Given the description of an element on the screen output the (x, y) to click on. 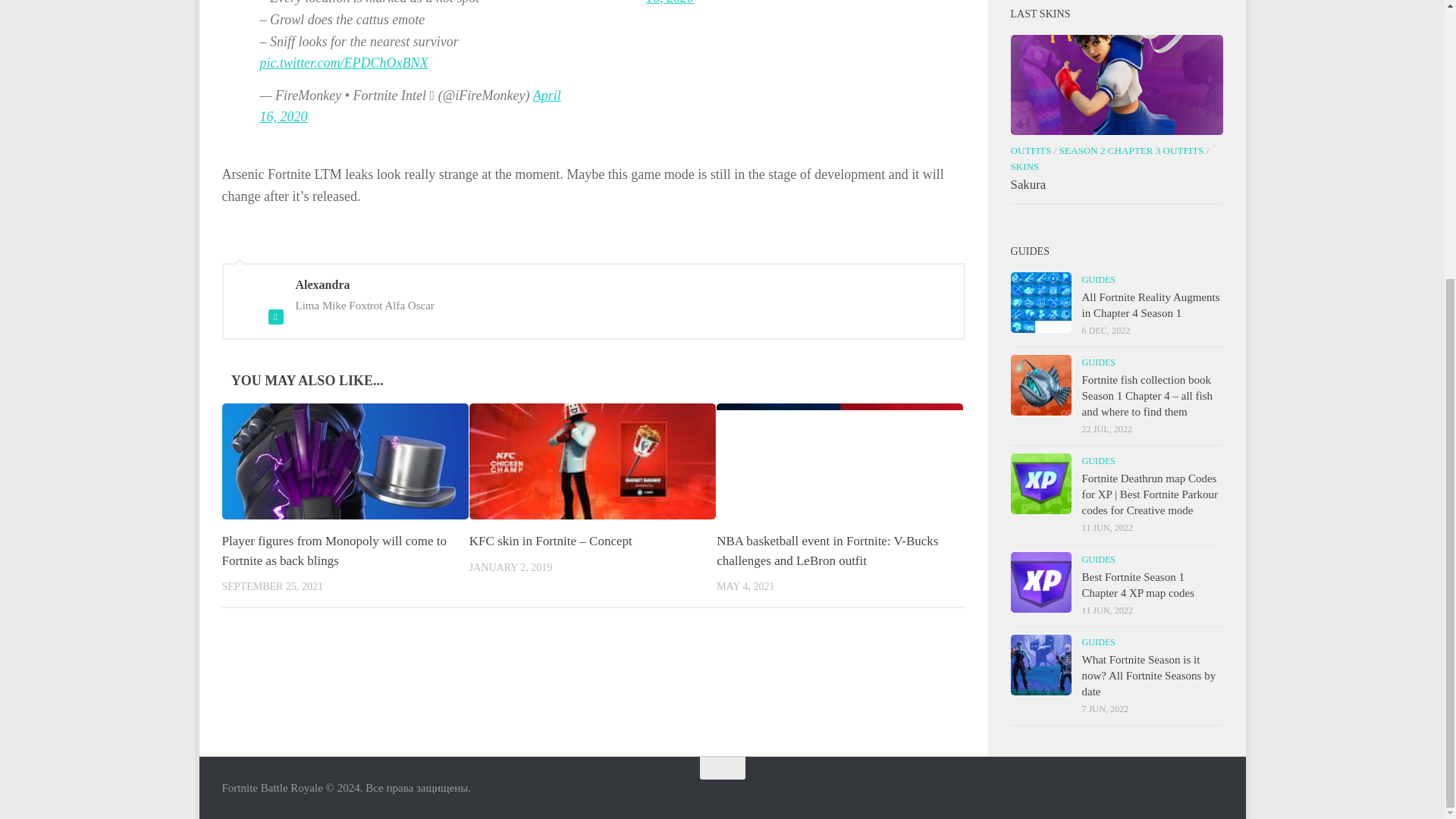
Sakura   (1116, 85)
Best Fortnite Season 1 Chapter 4 XP map codes   (1040, 582)
All Fortnite Reality Augments in Chapter 4 Season 1   (1040, 301)
April 16, 2020 (409, 106)
KFC skin in Fortnite - Concept   (592, 461)
